Given the description of an element on the screen output the (x, y) to click on. 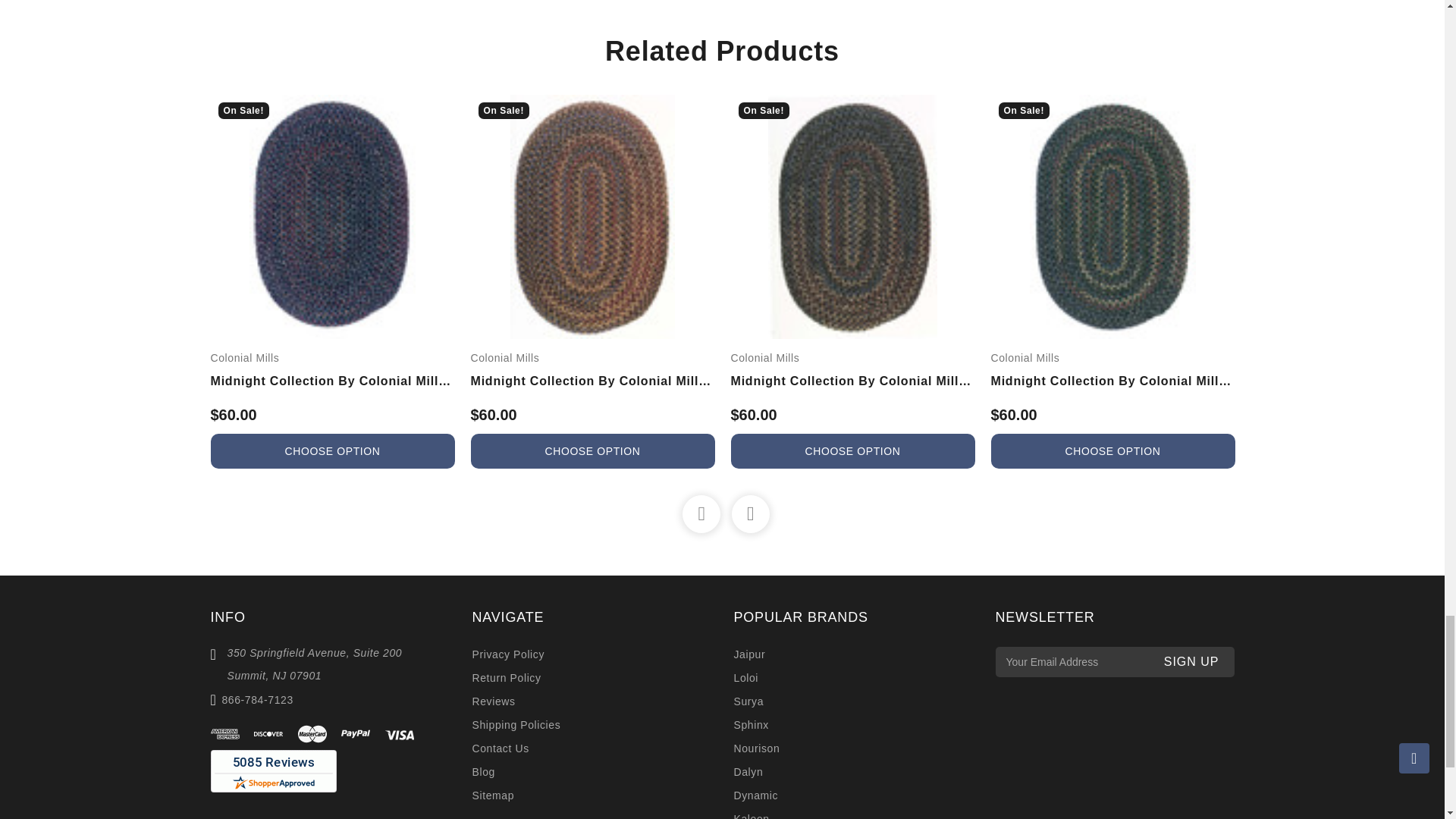
Choose Options (852, 450)
Choose Options (592, 450)
Choose Options (1112, 450)
Choose Options (332, 450)
Sign up (1191, 662)
